Given the description of an element on the screen output the (x, y) to click on. 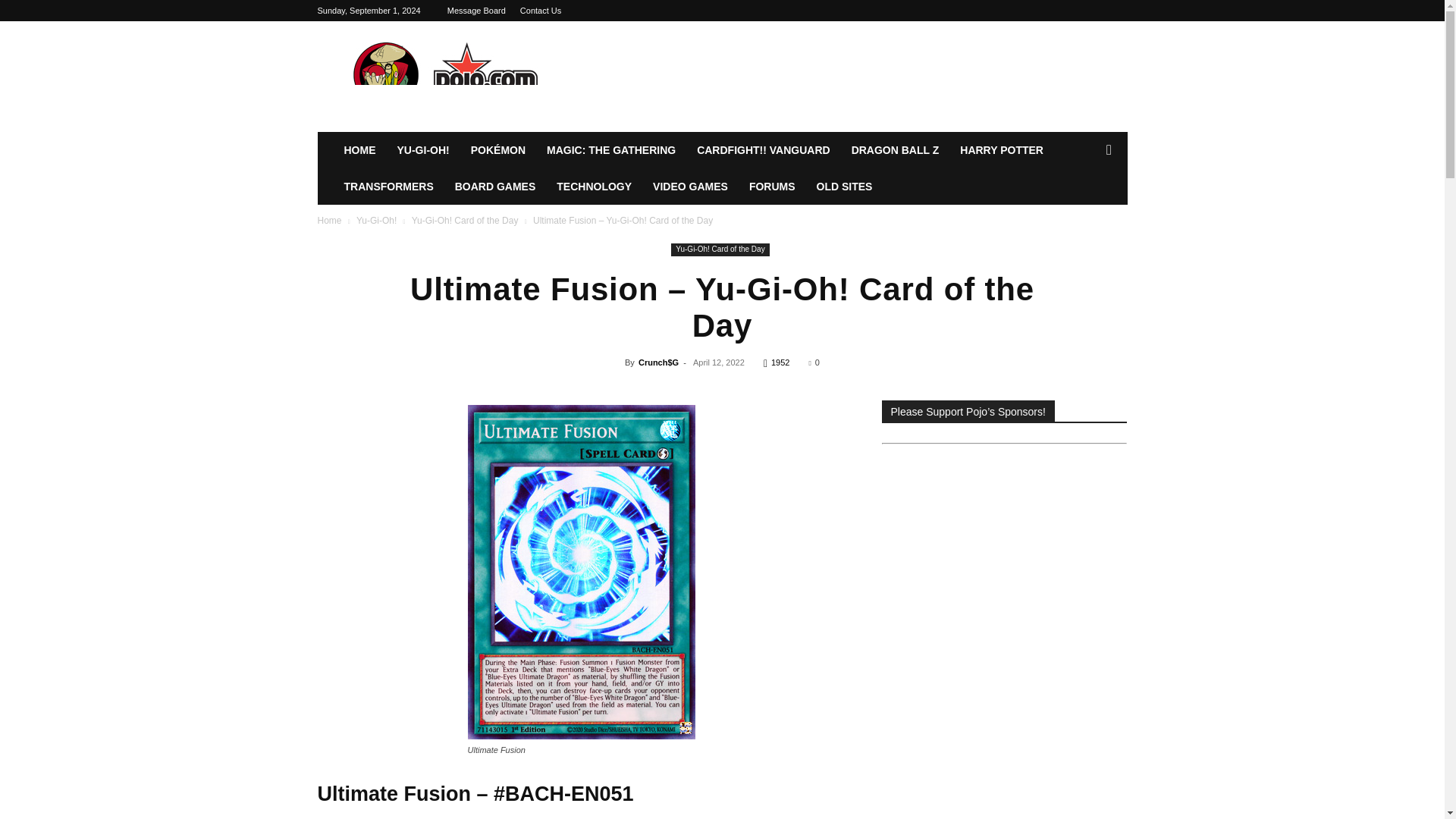
View all posts in Yu-Gi-Oh! Card of the Day (465, 220)
Pojo.com (445, 76)
View all posts in Yu-Gi-Oh! (376, 220)
